Given the description of an element on the screen output the (x, y) to click on. 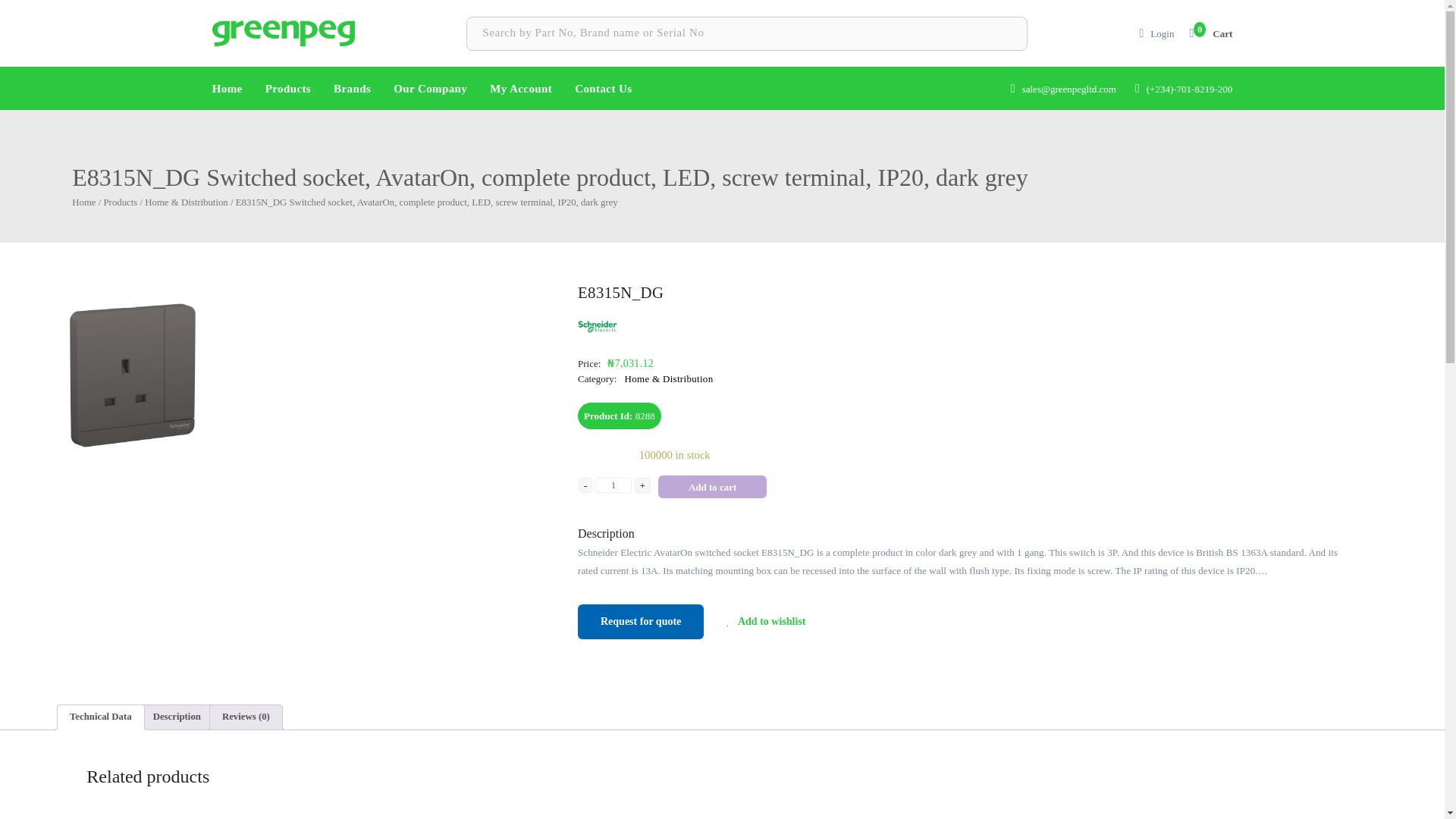
1 (612, 485)
Login (1161, 33)
Qty (612, 485)
0 Cart (1210, 33)
